Given the description of an element on the screen output the (x, y) to click on. 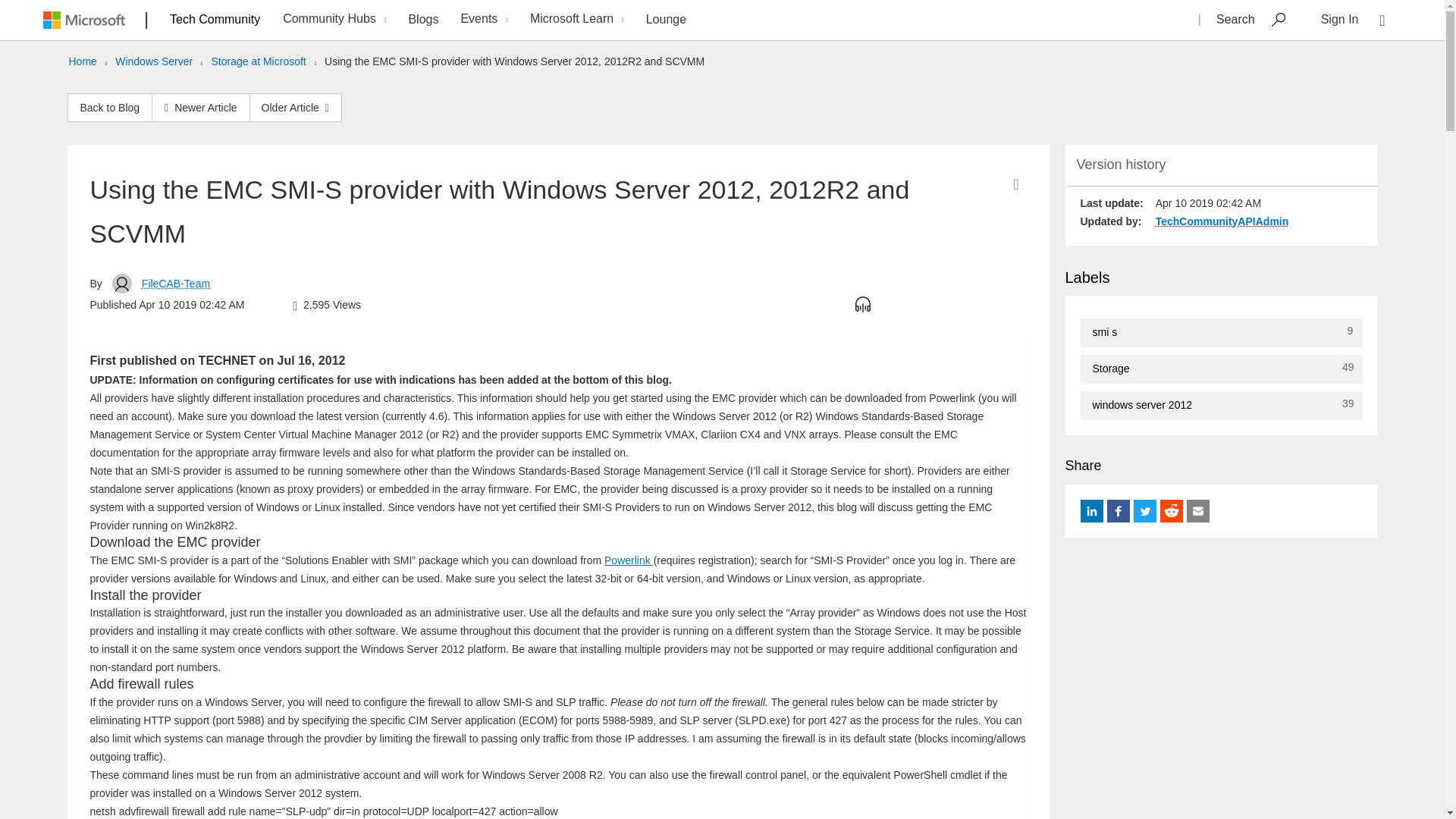
Community Hubs (332, 19)
Tech Community (215, 18)
